Given the description of an element on the screen output the (x, y) to click on. 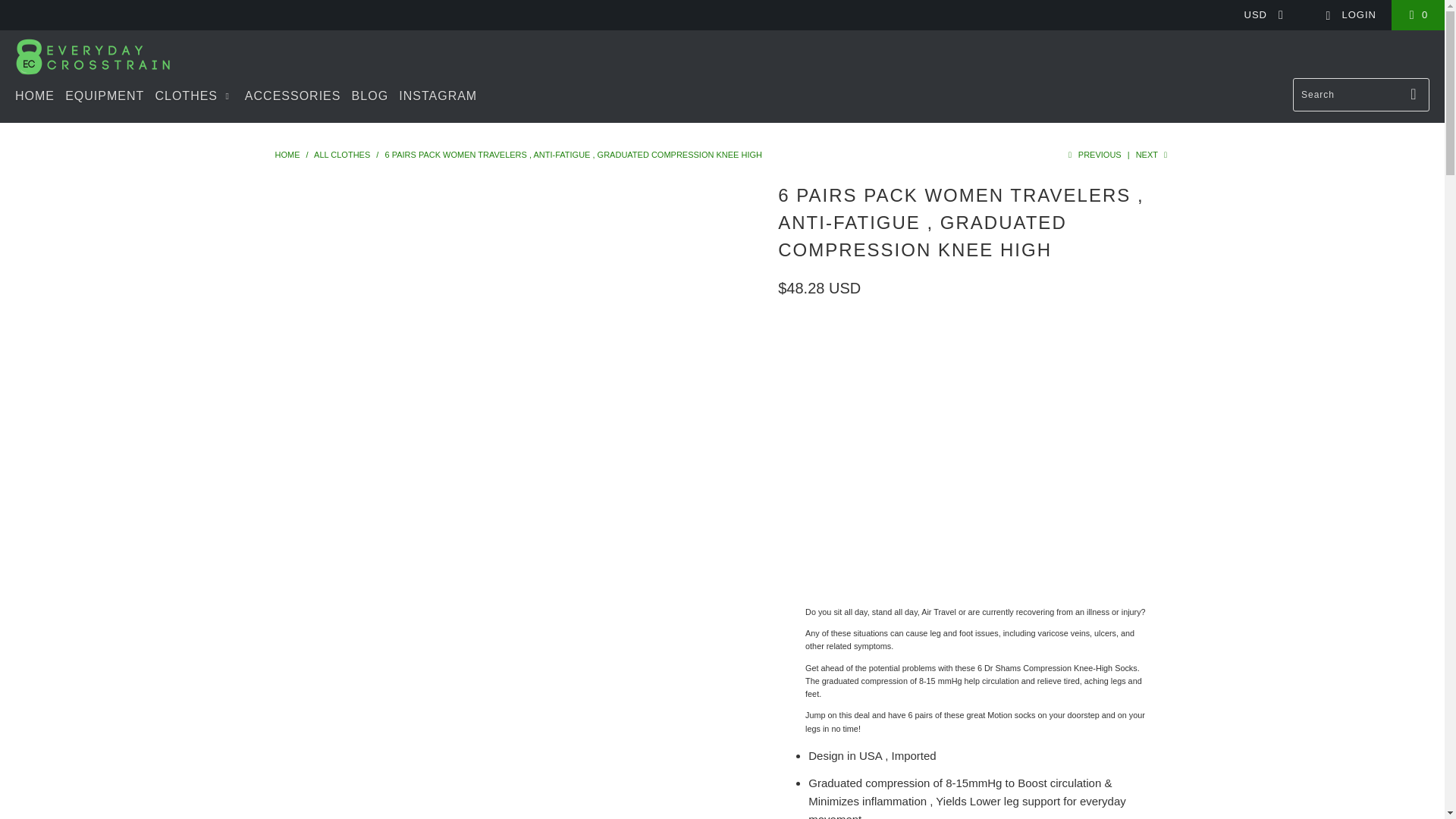
My Account  (1350, 15)
ACCESSORIES (292, 96)
USD (1259, 15)
HOME (34, 96)
Everyday Crosstrain (92, 57)
CLOTHES (193, 96)
Next (1152, 153)
BLOG (370, 96)
LOGIN (1350, 15)
All Clothes (341, 153)
